Given the description of an element on the screen output the (x, y) to click on. 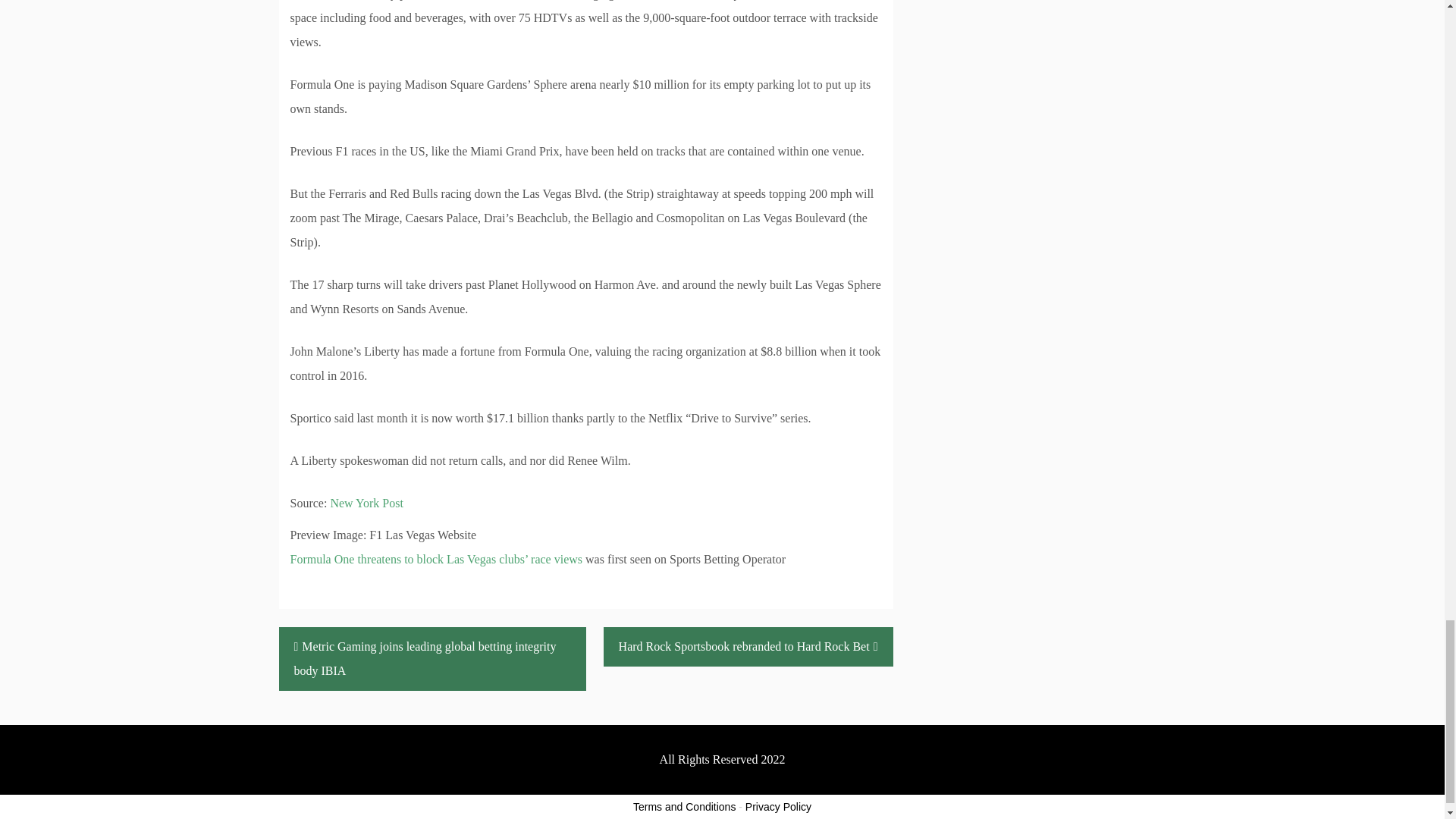
New York Post  (366, 502)
Hard Rock Sportsbook rebranded to Hard Rock Bet (748, 646)
